Given the description of an element on the screen output the (x, y) to click on. 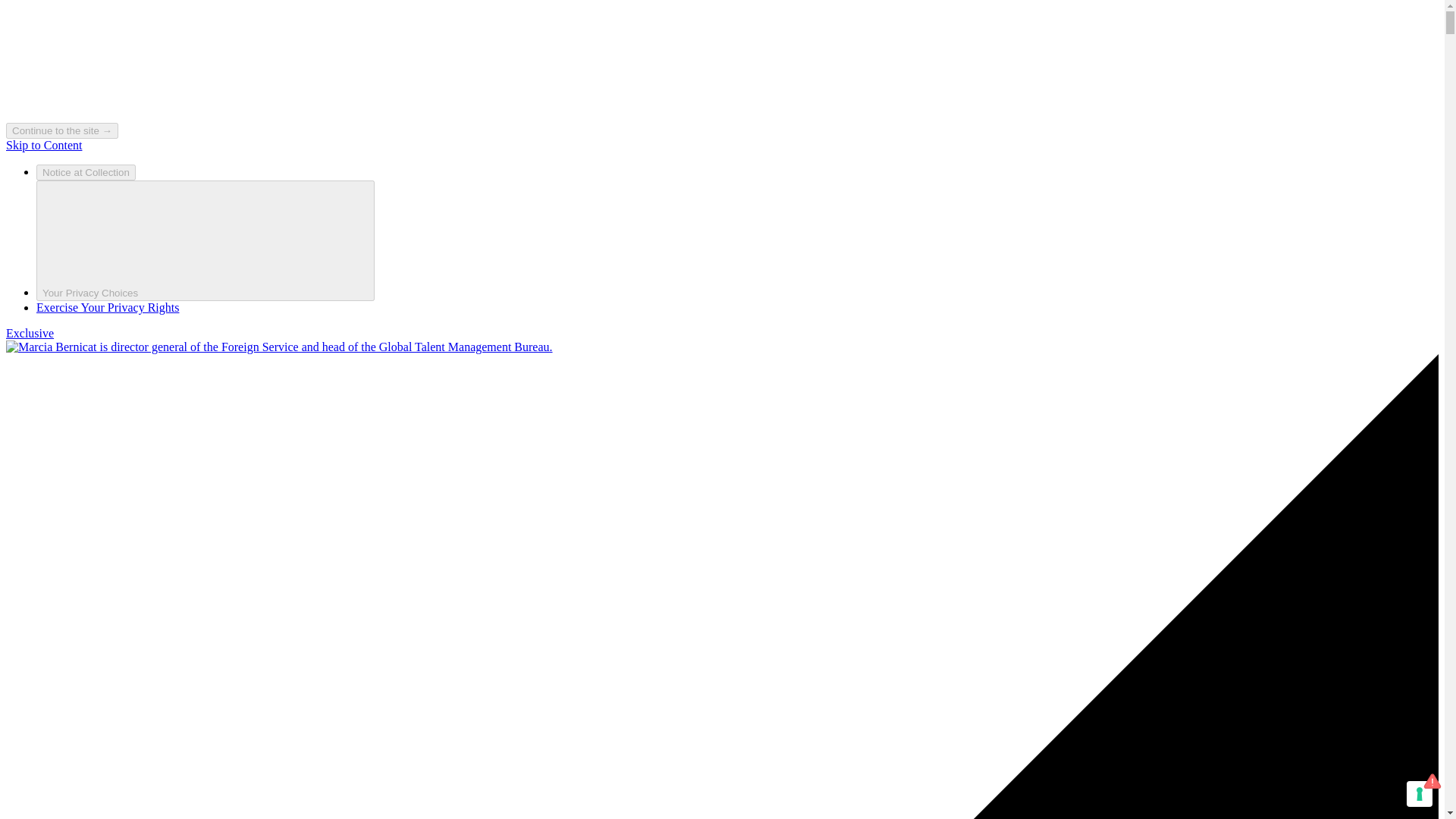
Notice at Collection (85, 172)
Exercise Your Privacy Rights (107, 307)
Your Privacy Choices (205, 240)
Skip to Content (43, 144)
